Given the description of an element on the screen output the (x, y) to click on. 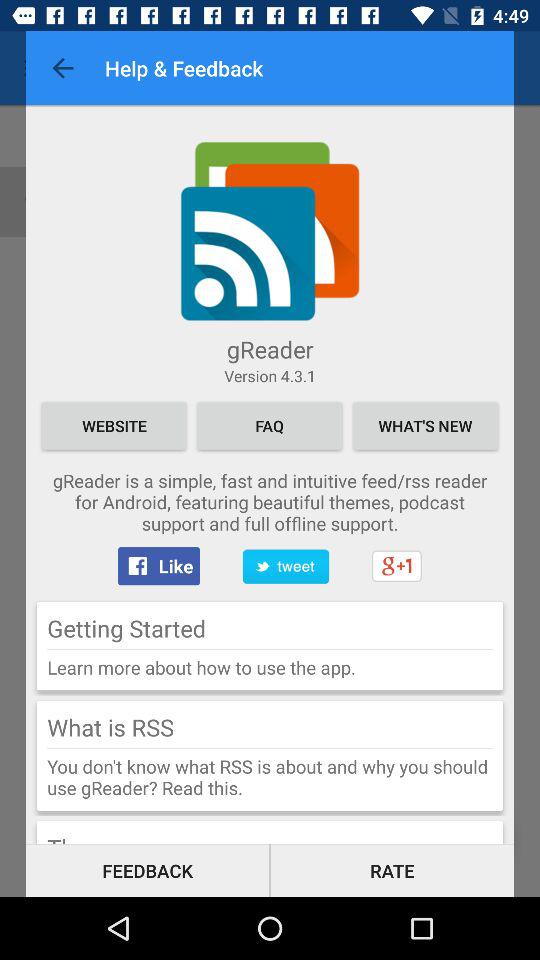
tap the rate (391, 870)
